Given the description of an element on the screen output the (x, y) to click on. 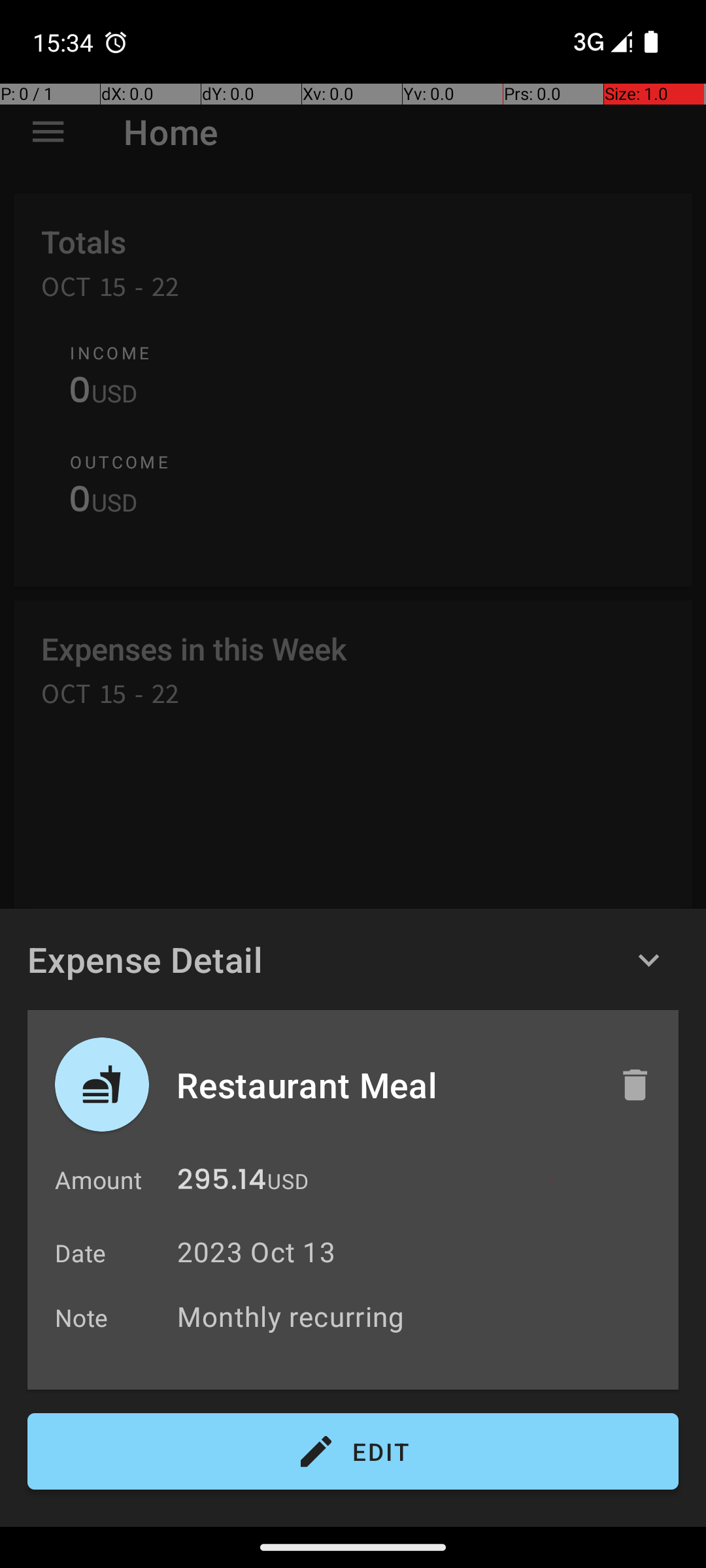
295.14 Element type: android.widget.TextView (221, 1182)
